Given the description of an element on the screen output the (x, y) to click on. 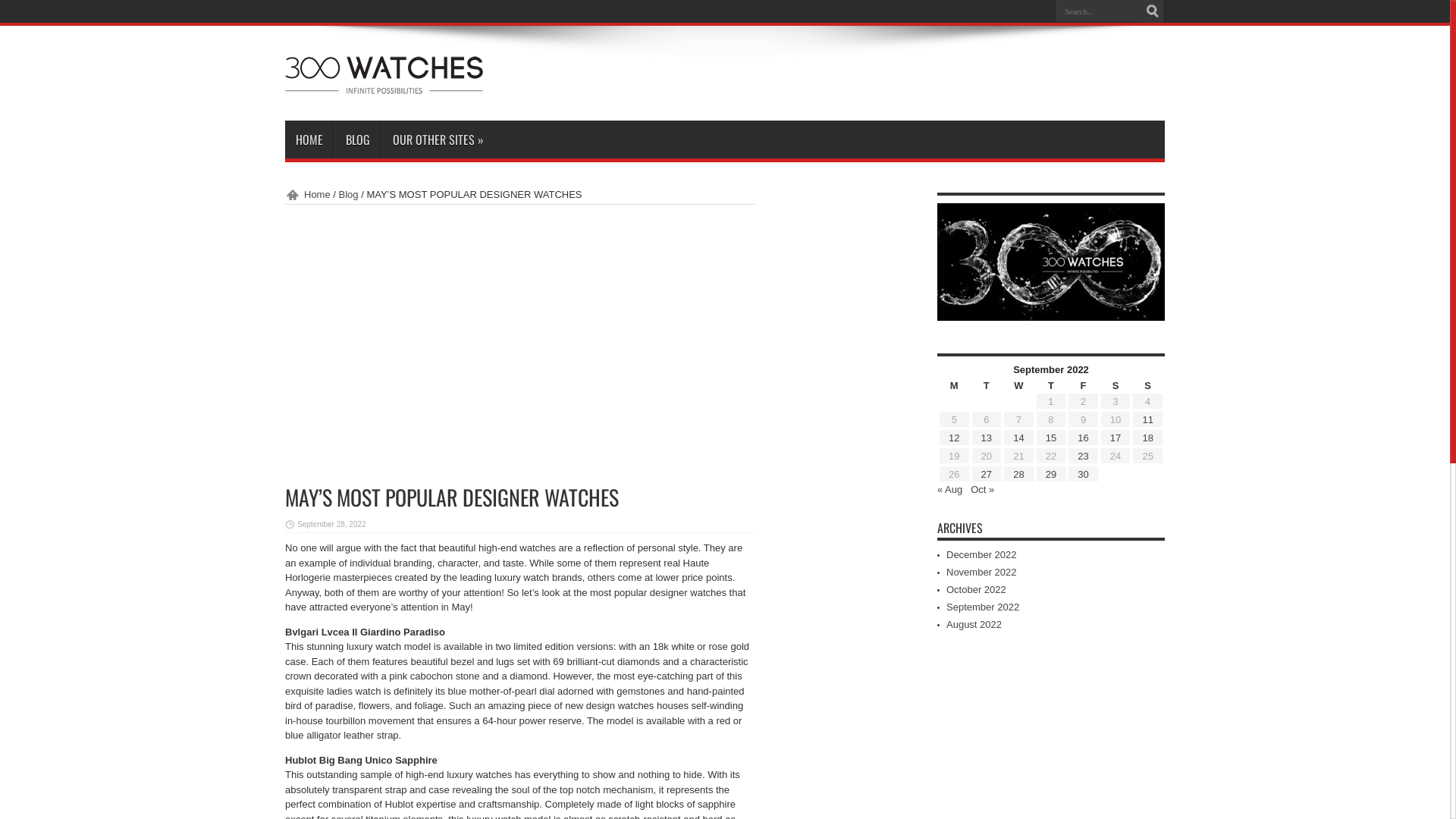
HOME Element type: text (309, 139)
17 Element type: text (1115, 437)
Search Element type: text (1153, 11)
18 Element type: text (1147, 437)
September 2022 Element type: text (982, 606)
October 2022 Element type: text (976, 589)
Blog Element type: text (348, 194)
13 Element type: text (986, 437)
December 2022 Element type: text (981, 554)
15 Element type: text (1050, 437)
28 Element type: text (1018, 474)
29 Element type: text (1050, 474)
14 Element type: text (1018, 437)
30 Element type: text (1082, 474)
Home Element type: text (307, 194)
November 2022 Element type: text (981, 571)
16 Element type: text (1082, 437)
11 Element type: text (1147, 419)
23 Element type: text (1082, 455)
August 2022 Element type: text (973, 624)
27 Element type: text (986, 474)
BLOG Element type: text (357, 139)
12 Element type: text (953, 437)
300Watches Element type: hover (384, 82)
